Given the description of an element on the screen output the (x, y) to click on. 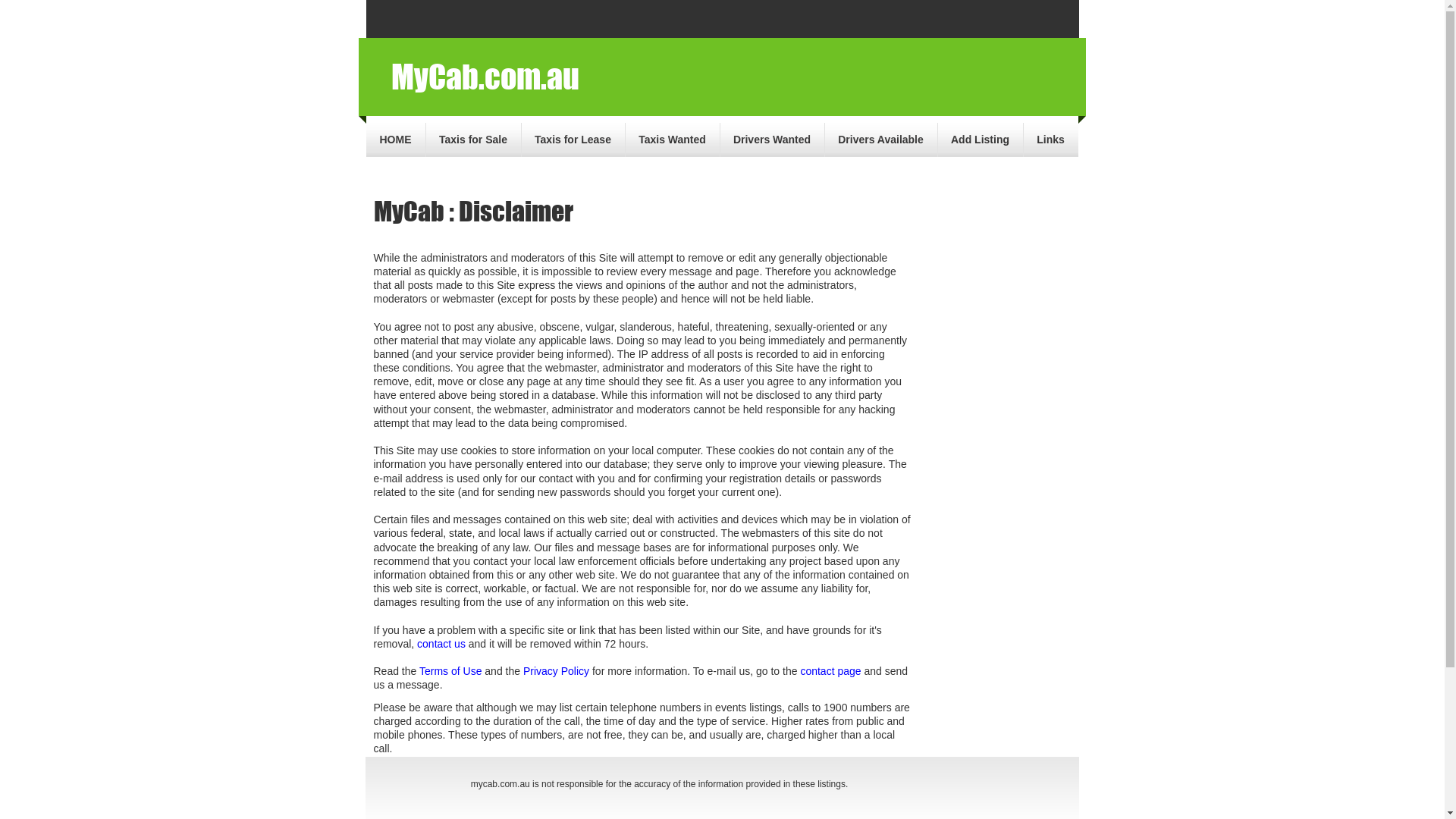
Links Element type: text (1050, 139)
Drivers Available Element type: text (881, 139)
Taxis for Sale Element type: text (473, 139)
contact us Element type: text (441, 643)
HOME Element type: text (394, 139)
Taxis for Lease Element type: text (572, 139)
Terms of Use Element type: text (450, 671)
Add Listing Element type: text (979, 139)
contact page Element type: text (830, 671)
Privacy Policy Element type: text (556, 671)
Drivers Wanted Element type: text (772, 139)
Taxis Wanted Element type: text (671, 139)
